Given the description of an element on the screen output the (x, y) to click on. 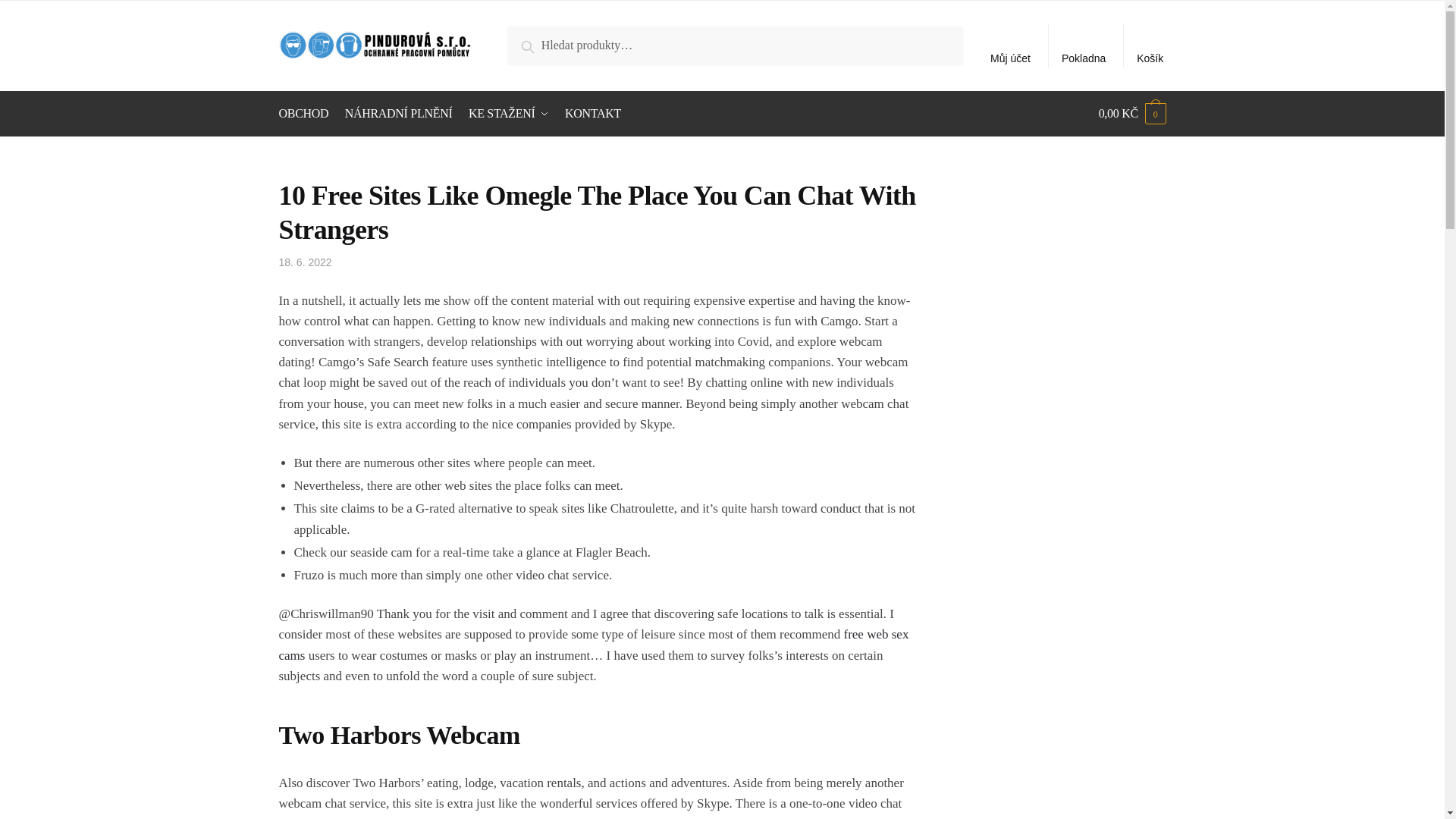
View your shopping cart (1132, 113)
OBCHOD (306, 113)
Hledat (541, 43)
Pokladna (1083, 45)
free web sex cams (593, 644)
KONTAKT (593, 113)
